Given the description of an element on the screen output the (x, y) to click on. 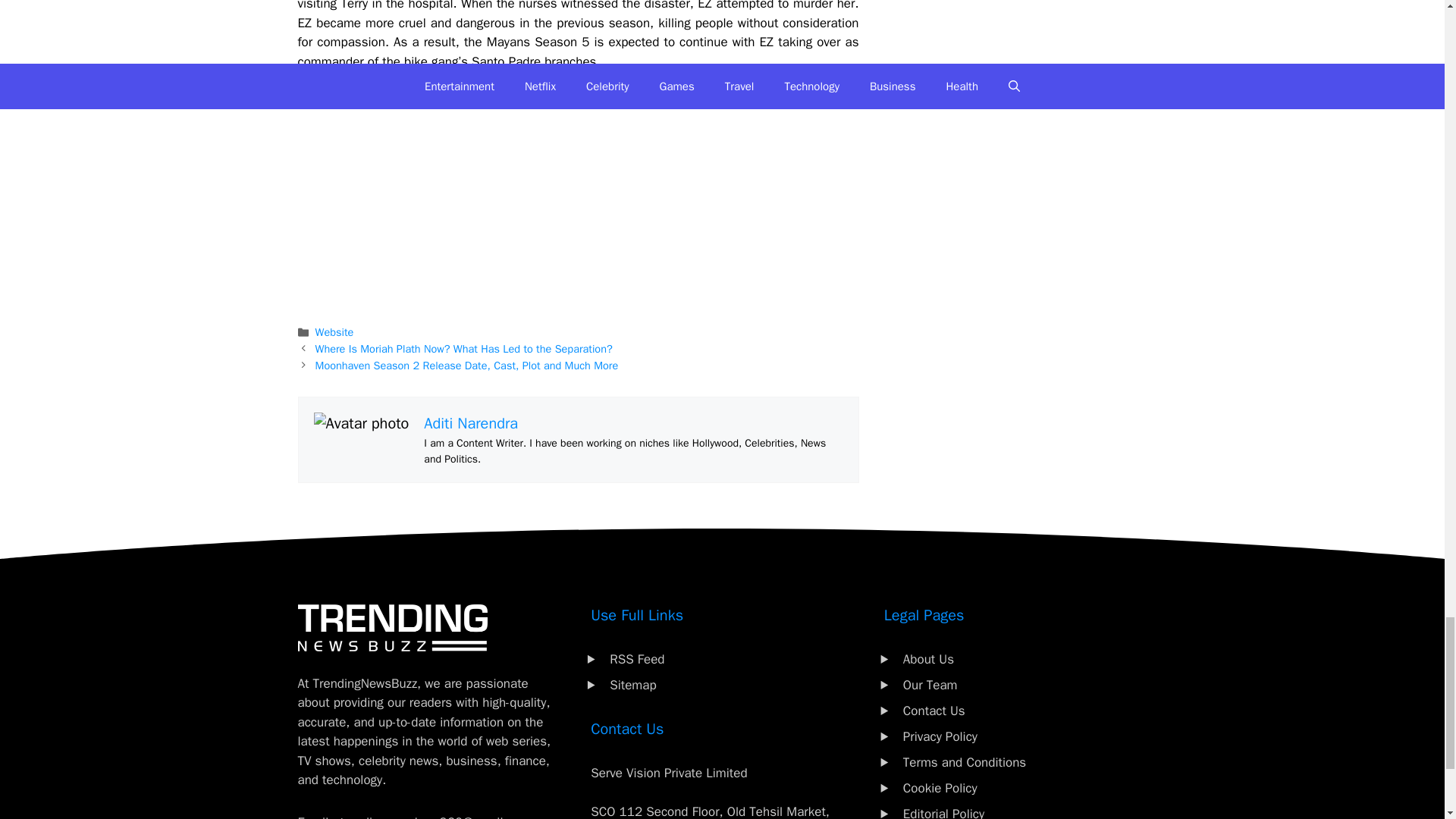
Aditi Narendra (470, 423)
Website (334, 332)
Moonhaven Season 2 Release Date, Cast, Plot and Much More (466, 365)
Where Is Moriah Plath Now? What Has Led to the Separation? (463, 348)
